Given the description of an element on the screen output the (x, y) to click on. 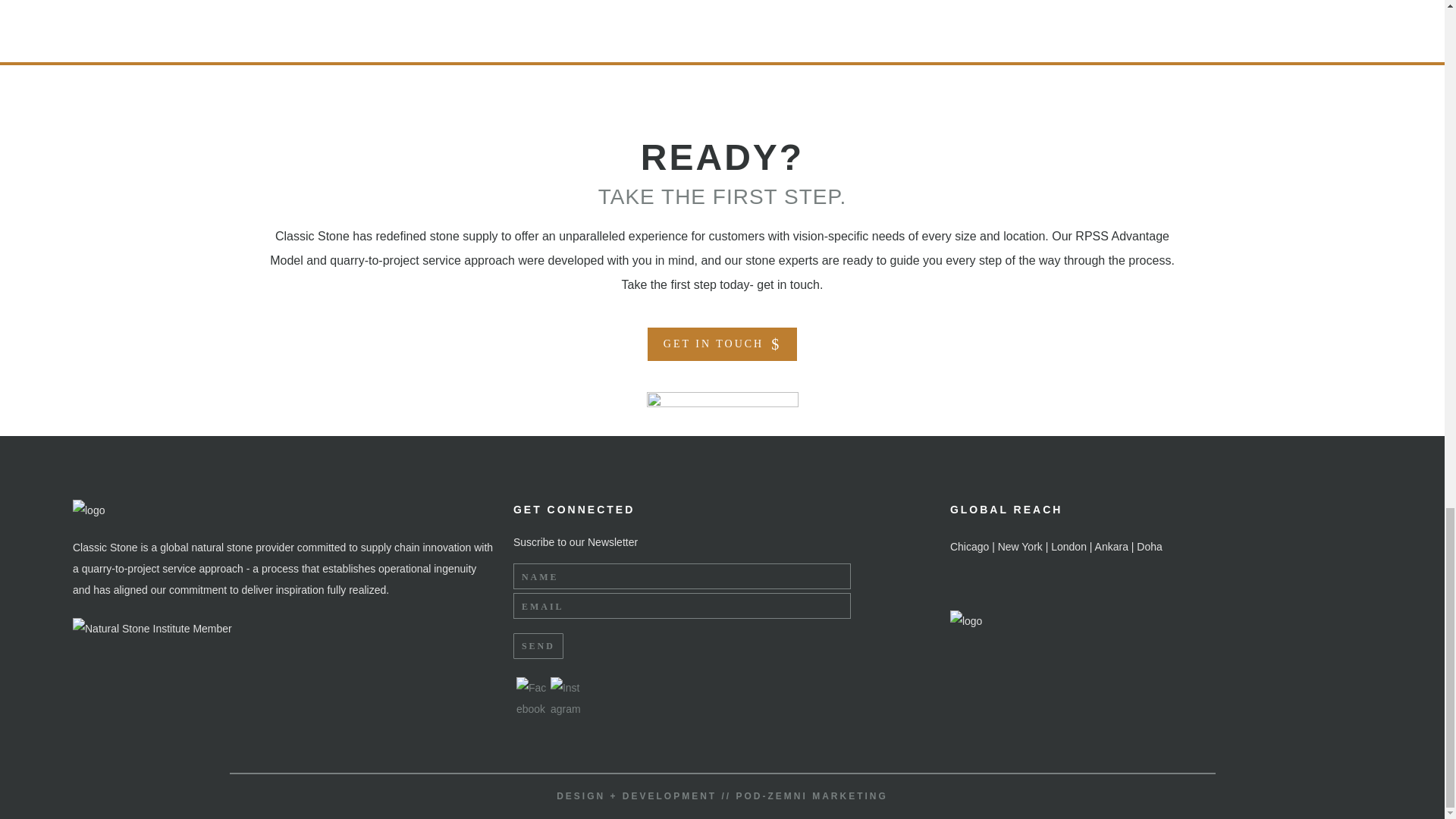
Send (538, 646)
name (681, 575)
email (681, 605)
